Given the description of an element on the screen output the (x, y) to click on. 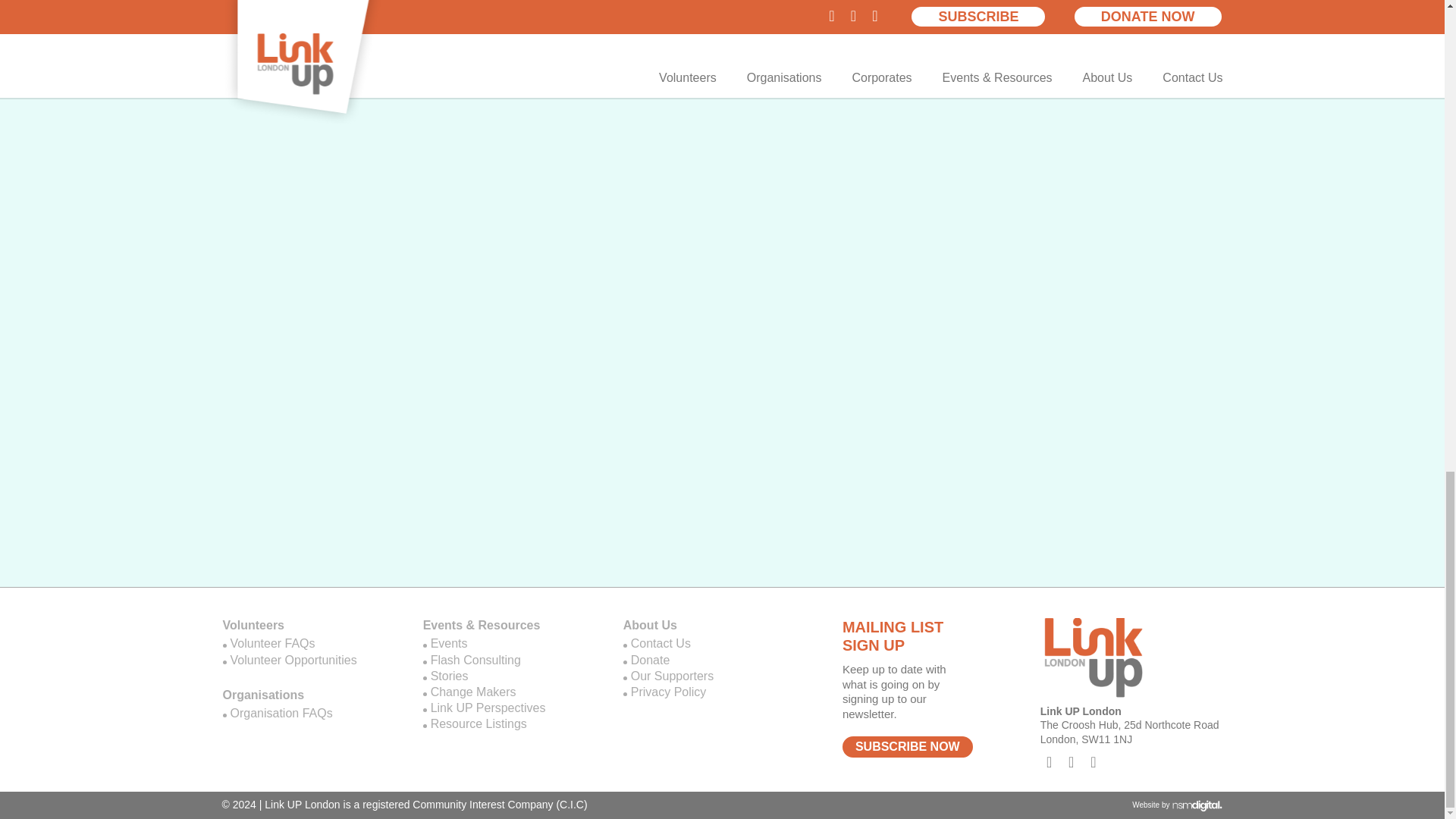
Events (508, 643)
Organisation FAQs (308, 713)
Flash Consulting (508, 660)
Volunteer FAQs (308, 643)
Organisations (308, 696)
Volunteers (308, 627)
Volunteer Opportunities (308, 660)
Stories (508, 676)
